Given the description of an element on the screen output the (x, y) to click on. 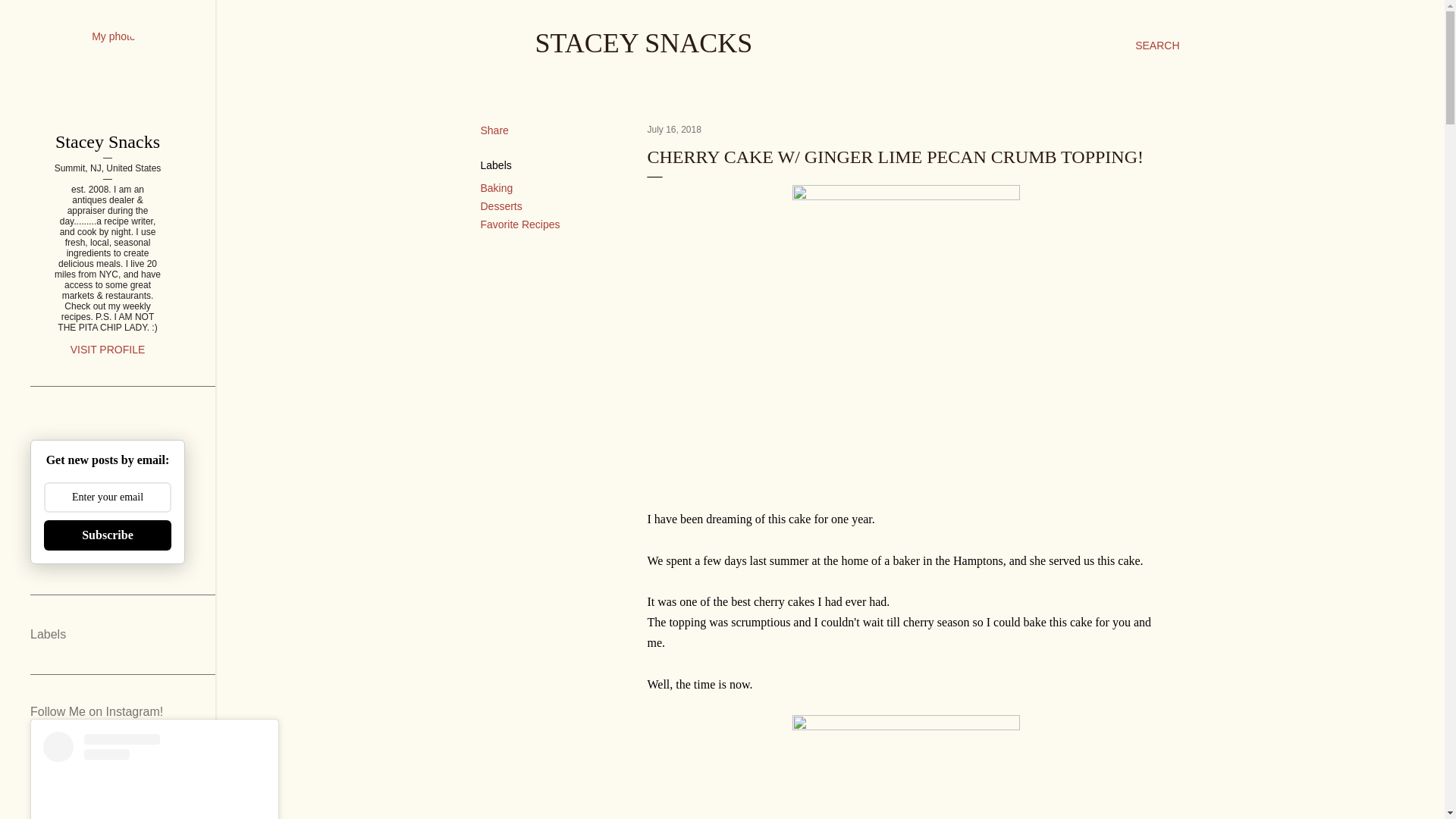
permanent link (674, 129)
Desserts (501, 205)
Share (494, 130)
Favorite Recipes (520, 224)
SEARCH (1157, 45)
Baking (496, 187)
July 16, 2018 (674, 129)
STACEY SNACKS (643, 42)
